Given the description of an element on the screen output the (x, y) to click on. 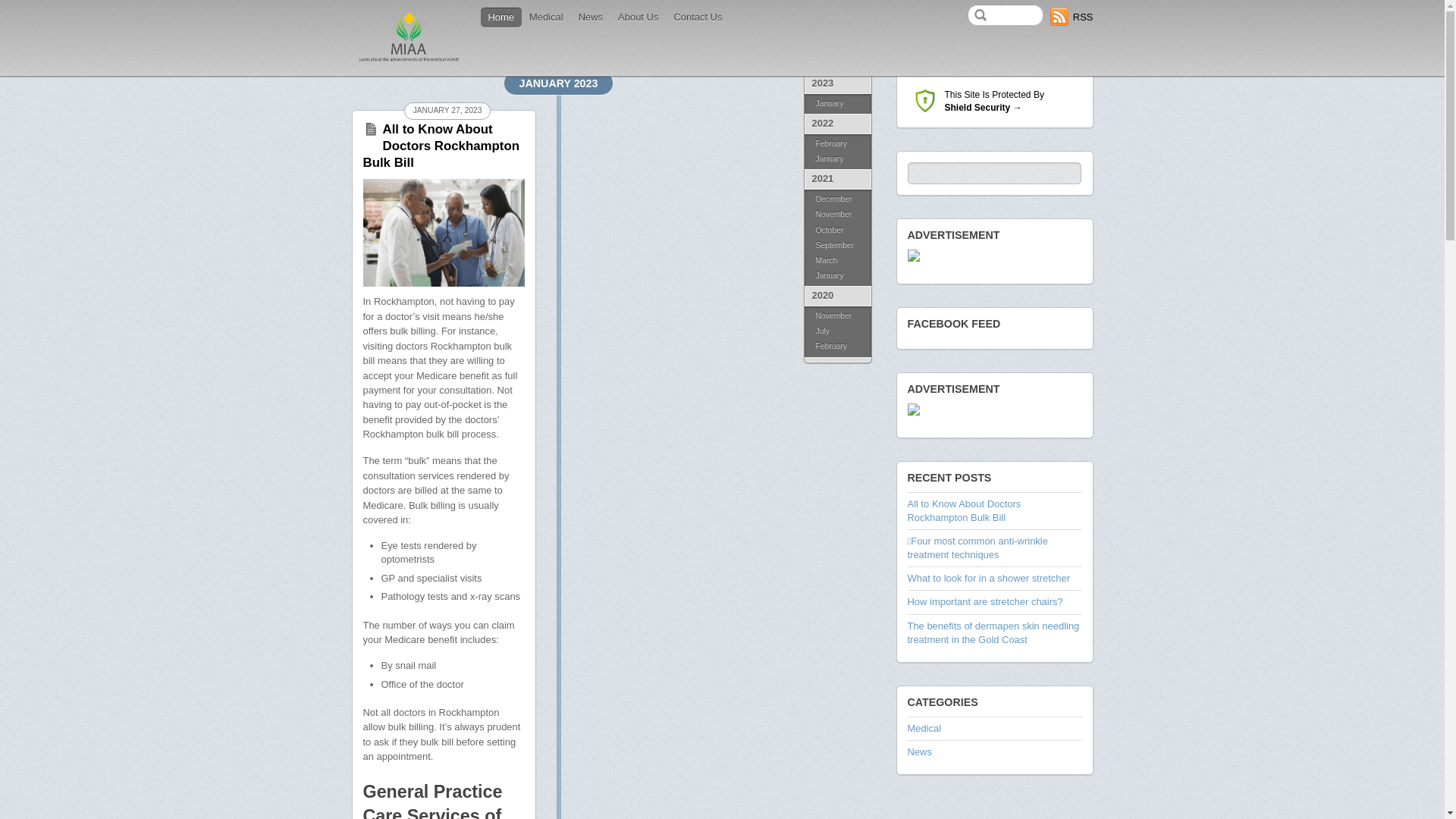
MIAA Element type: hover (408, 61)
What to look for in a shower stretcher Element type: text (988, 577)
2021 Element type: text (836, 179)
About Us Element type: text (637, 17)
December Element type: text (836, 198)
Home Element type: text (501, 17)
November Element type: text (836, 314)
Medical Element type: text (546, 17)
November Element type: text (836, 214)
Search Element type: hover (993, 173)
News Element type: text (590, 17)
RSS Element type: text (1071, 16)
January Element type: text (836, 276)
MIAA Element type: hover (408, 37)
News Element type: text (918, 751)
March Element type: text (836, 260)
January Element type: text (836, 160)
2023 Element type: text (836, 83)
All to Know About Doctors Rockhampton Bulk Bill Element type: text (440, 145)
All to Know About Doctors Rockhampton Bulk Bill Element type: text (963, 510)
October Element type: text (836, 230)
2020 Element type: text (836, 295)
January Element type: text (836, 103)
Medical Element type: text (923, 728)
Contact Us Element type: text (697, 17)
2022 Element type: text (836, 123)
Search Element type: hover (1005, 14)
February Element type: text (836, 347)
February Element type: text (836, 142)
July Element type: text (836, 330)
September Element type: text (836, 245)
How important are stretcher chairs? Element type: text (984, 601)
